Given the description of an element on the screen output the (x, y) to click on. 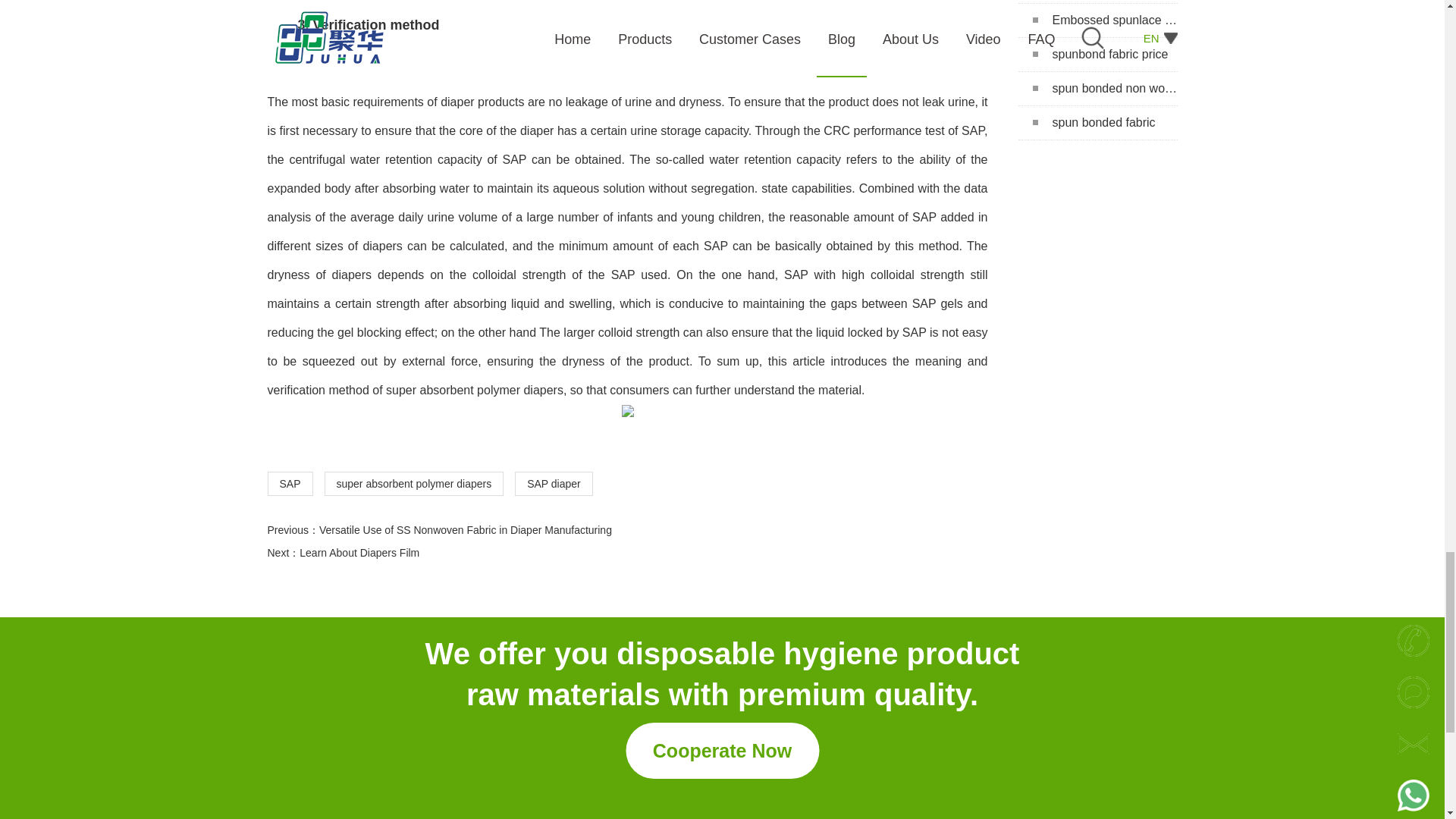
Embossed spunlace non woven  fabric for wet wipes (1096, 20)
spunbond fabric price (1096, 54)
ADL in Diaper (1096, 2)
